Given the description of an element on the screen output the (x, y) to click on. 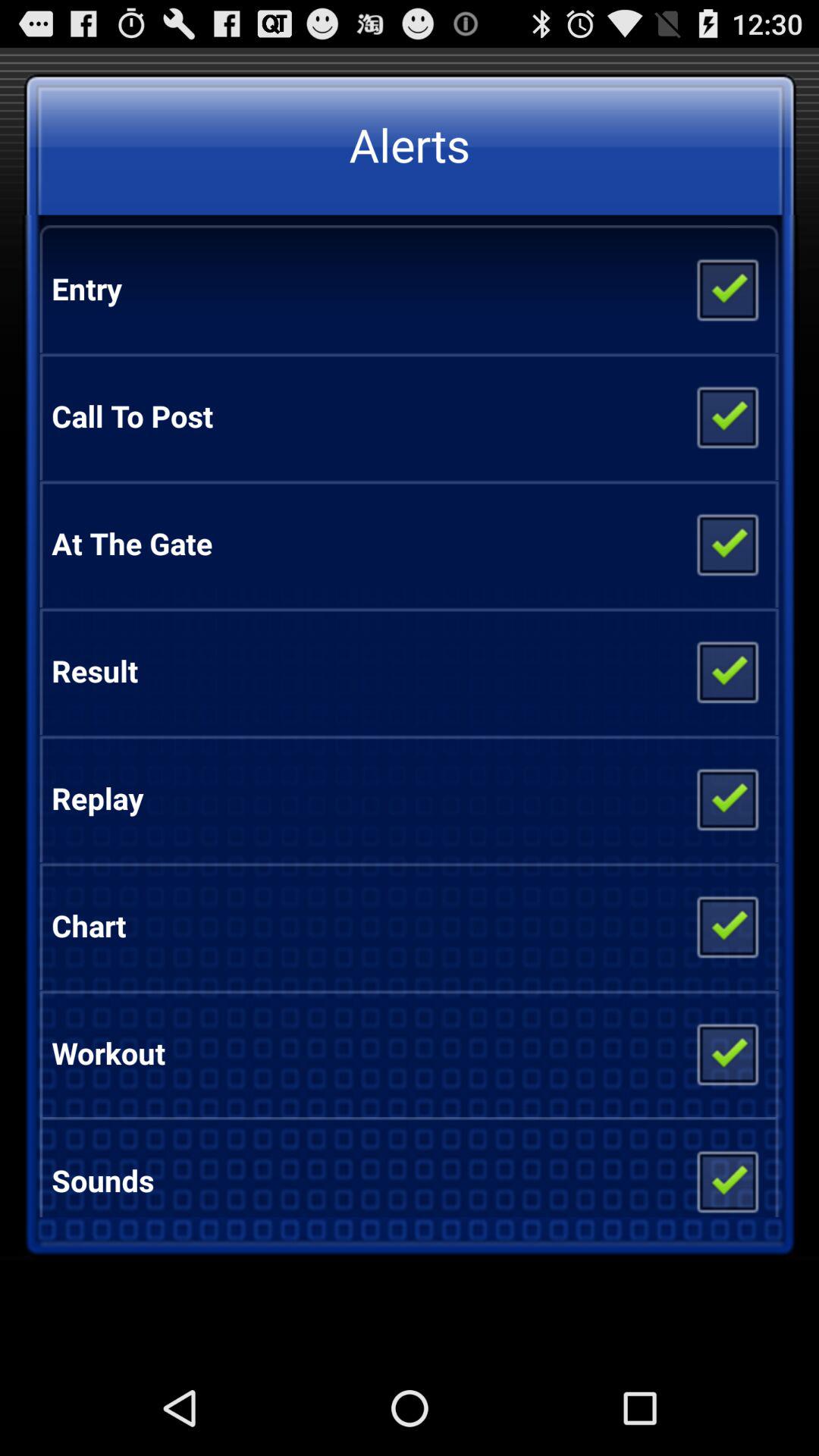
toggle entry alert (726, 288)
